Given the description of an element on the screen output the (x, y) to click on. 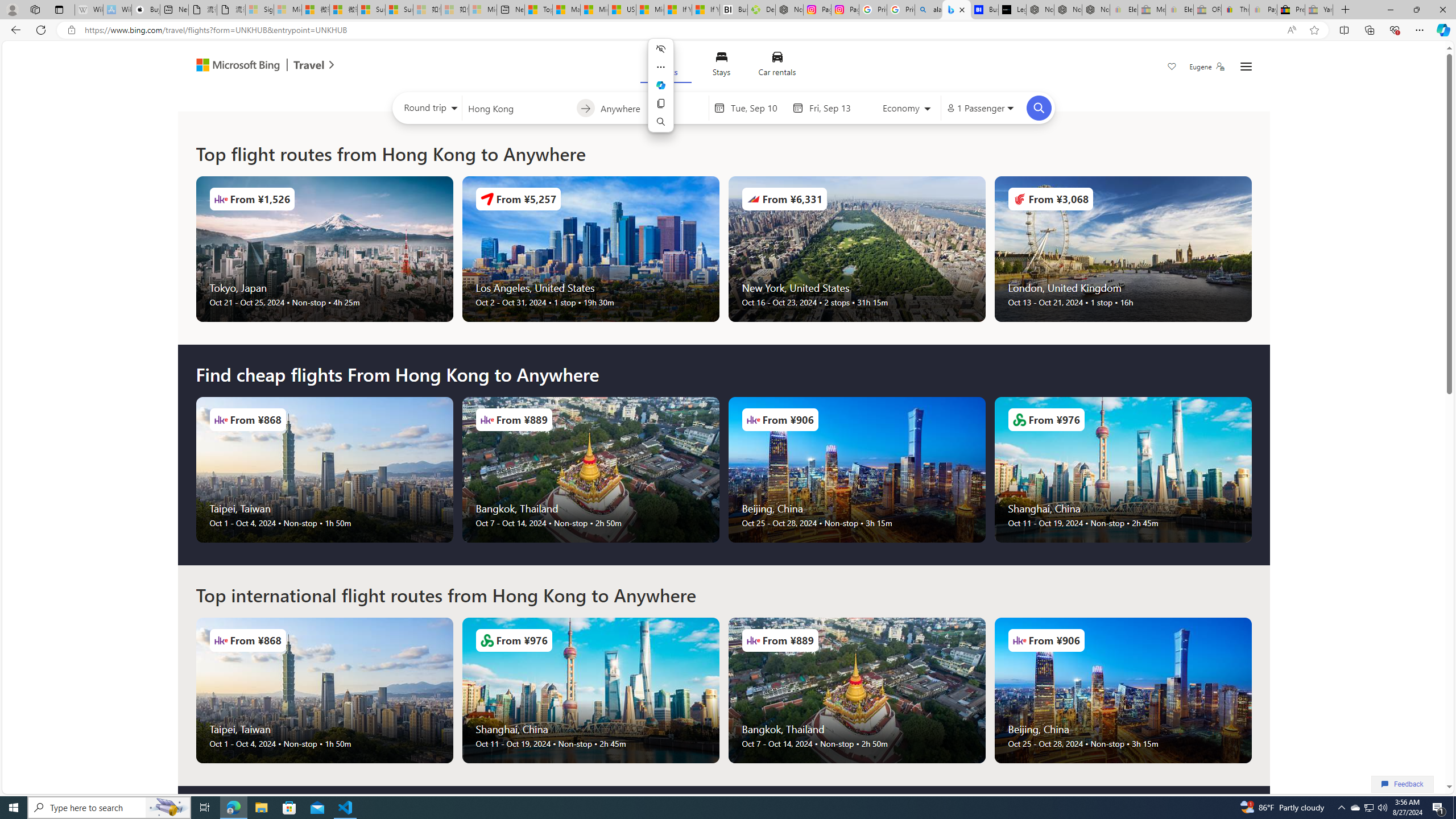
Buy iPad - Apple (145, 9)
Microsoft Bing (232, 65)
Class: trvl-hub-header nofilter (723, 65)
Mini menu on text selection (660, 91)
alabama high school quarterback dies - Search (928, 9)
Sign in to your Microsoft account - Sleeping (259, 9)
